Given the description of an element on the screen output the (x, y) to click on. 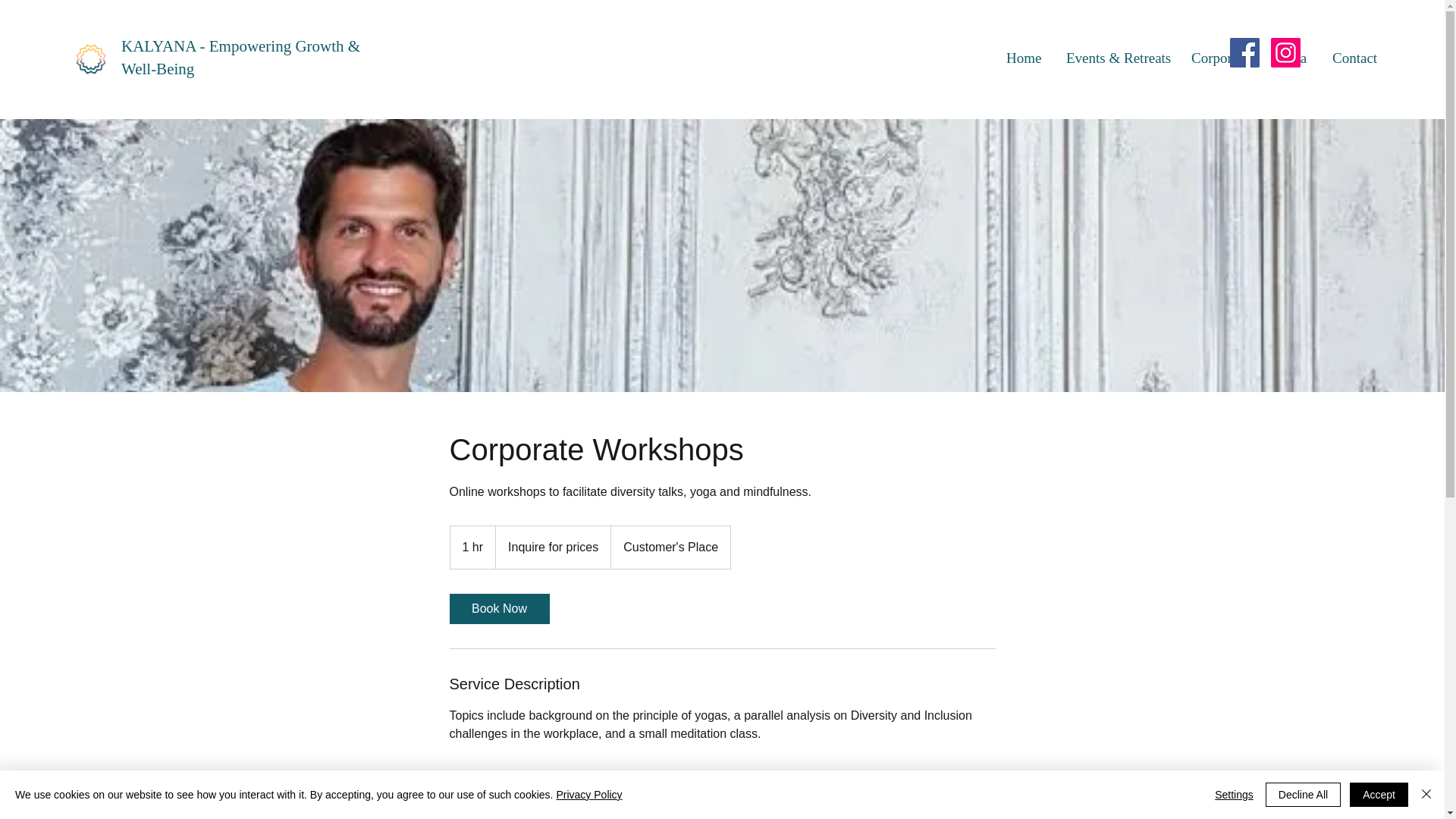
Contact (1354, 57)
Accept (1378, 794)
Corporate (1222, 57)
Yoga (1292, 57)
Home (1024, 57)
Decline All (1302, 794)
Privacy Policy (588, 794)
Book Now (498, 608)
